Given the description of an element on the screen output the (x, y) to click on. 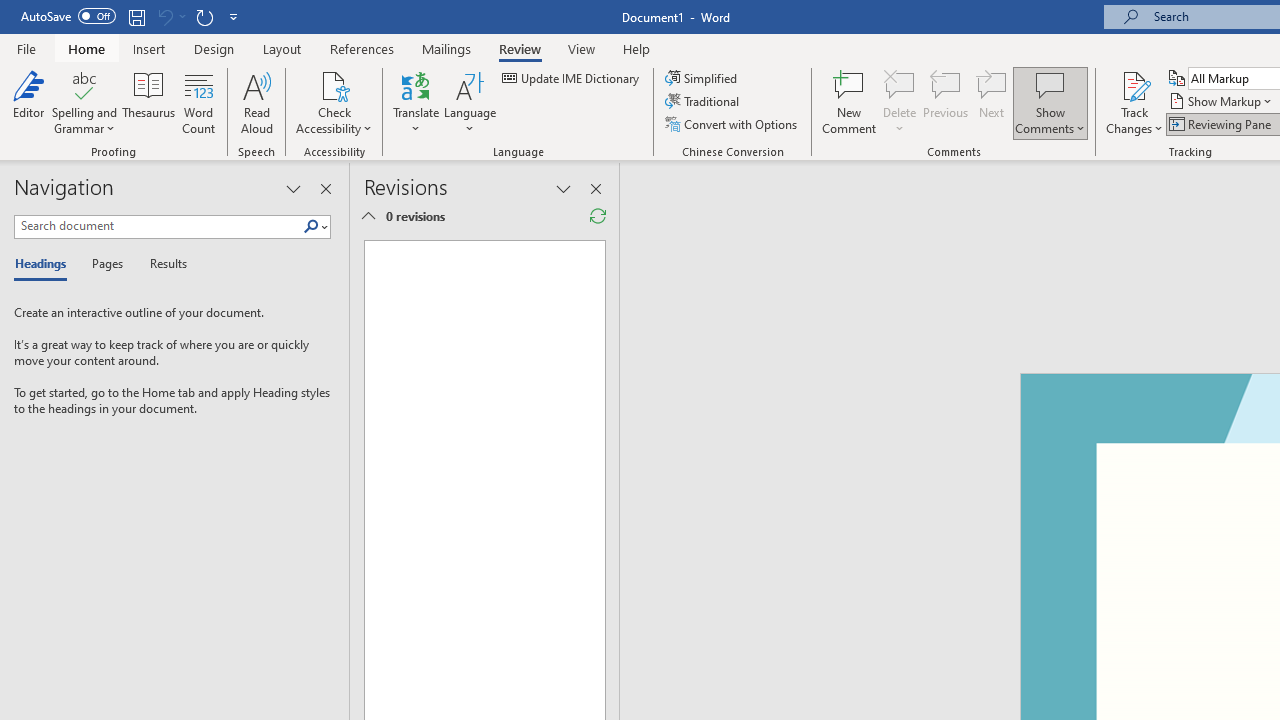
Spelling and Grammar (84, 84)
Translate (415, 102)
Word Count (198, 102)
Search document (157, 226)
Simplified (702, 78)
Read Aloud (256, 102)
Next (991, 102)
